Given the description of an element on the screen output the (x, y) to click on. 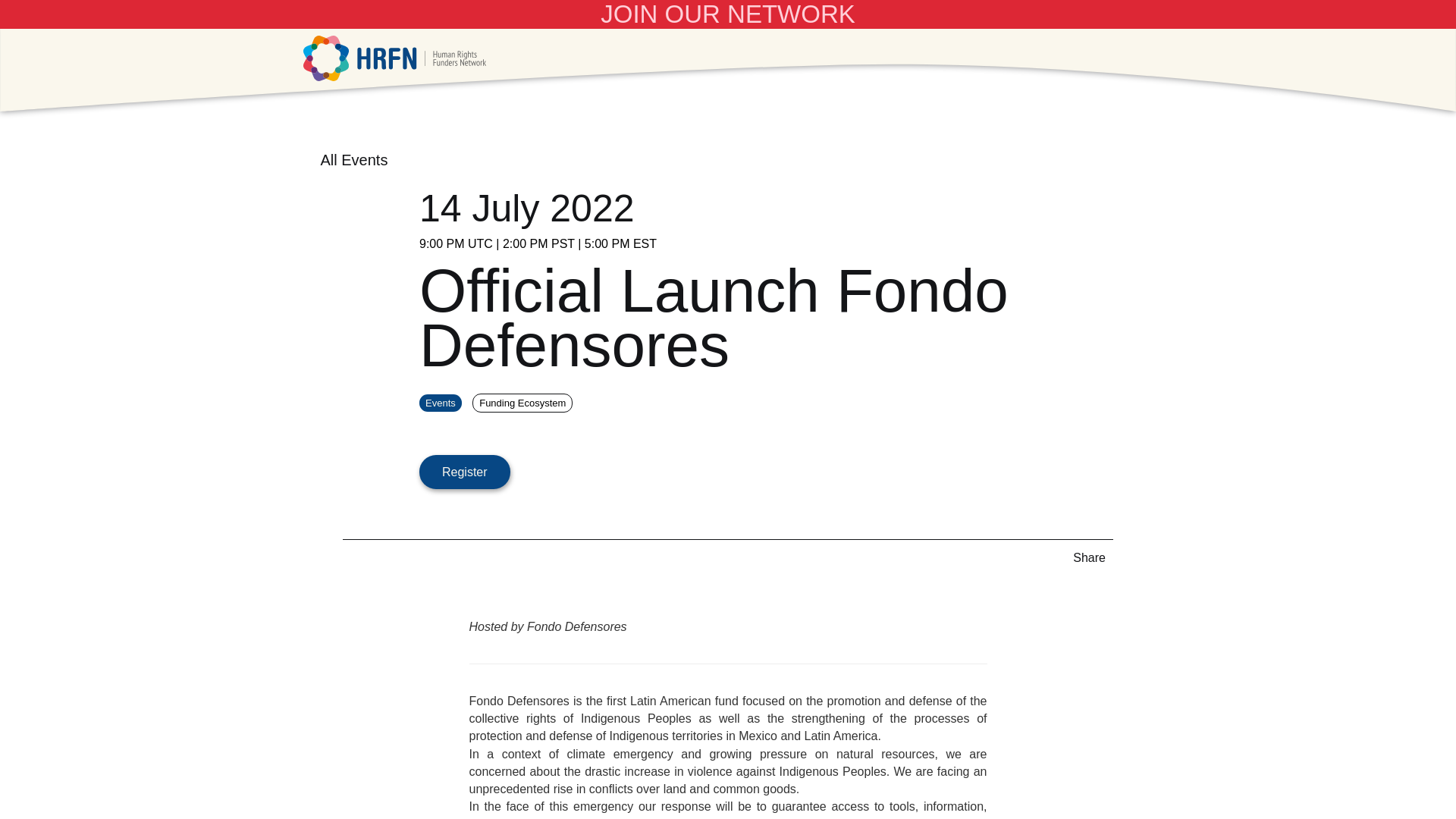
JOIN OUR NETWORK (727, 13)
